Given the description of an element on the screen output the (x, y) to click on. 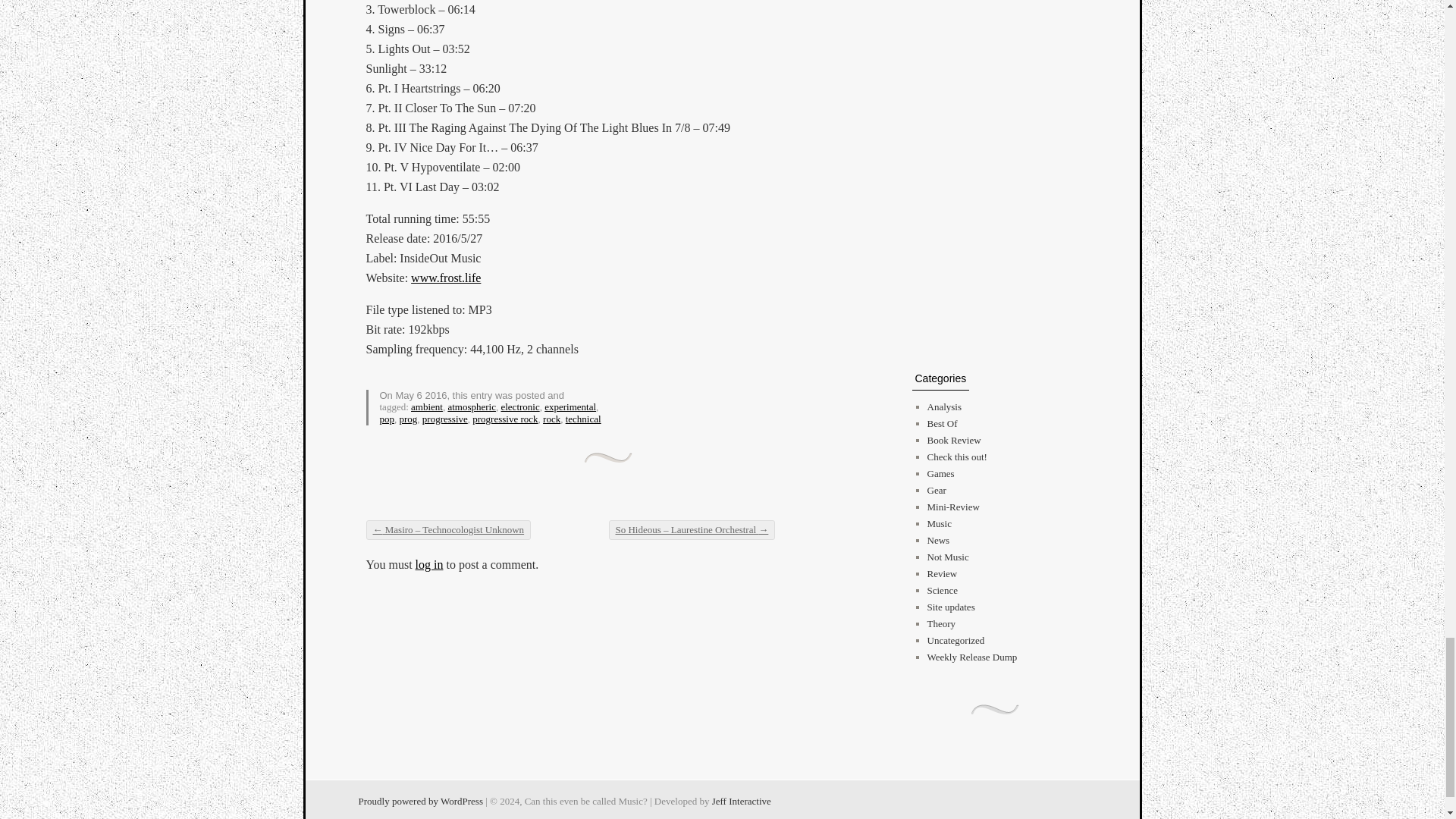
experimental (569, 406)
progressive (444, 419)
www.frost.life (445, 277)
technical (583, 419)
progressive rock (504, 419)
atmospheric (471, 406)
ambient (426, 406)
Check this out! (956, 456)
electronic (519, 406)
Analysis (943, 406)
